Given the description of an element on the screen output the (x, y) to click on. 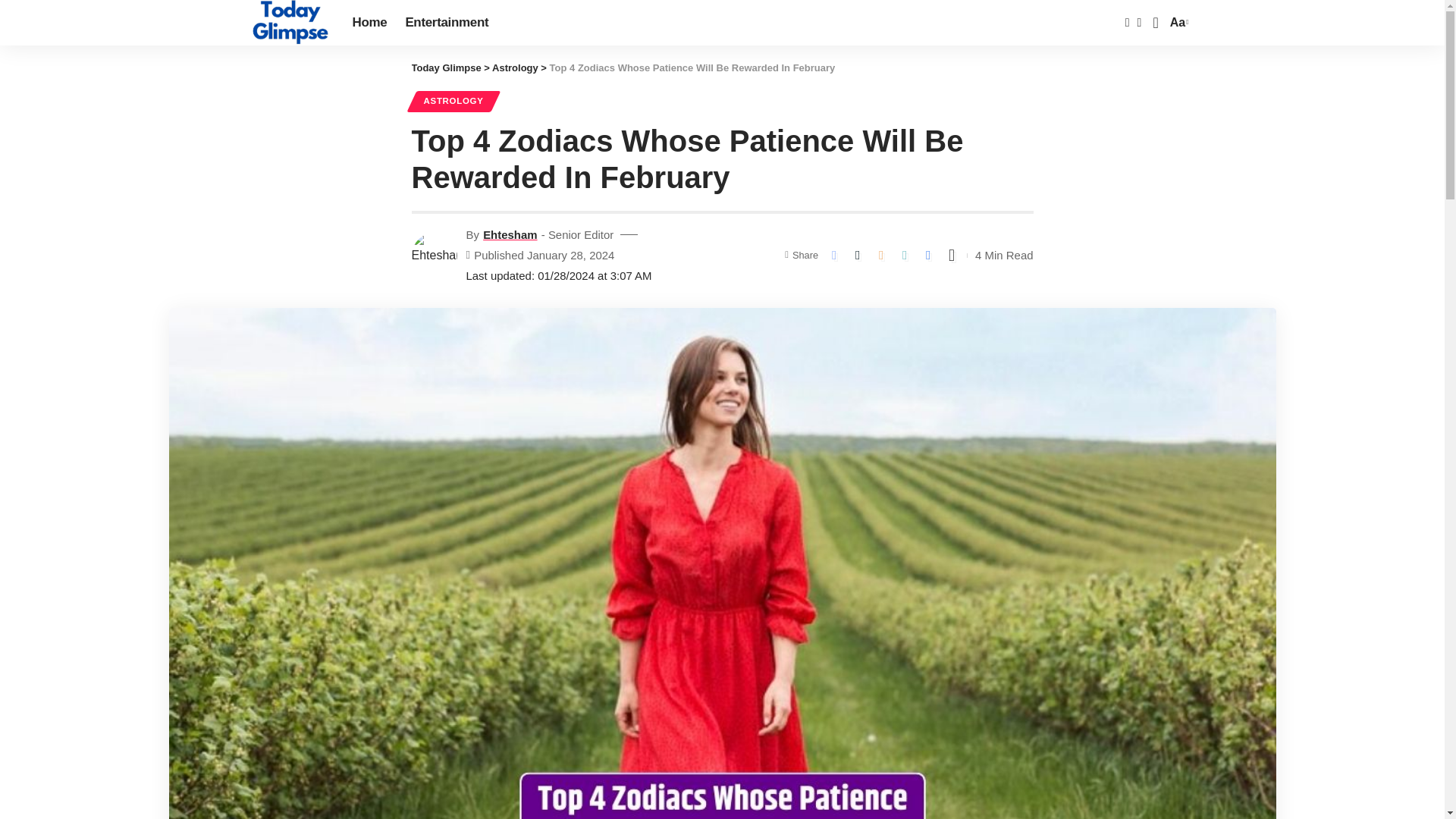
ASTROLOGY (452, 101)
Entertainment (1177, 22)
Today Glimpse (446, 22)
Astrology (289, 22)
Ehtesham (515, 67)
Home (510, 234)
Go to Today Glimpse. (369, 22)
Today Glimpse (445, 67)
Go to the Astrology Category archives. (445, 67)
